Given the description of an element on the screen output the (x, y) to click on. 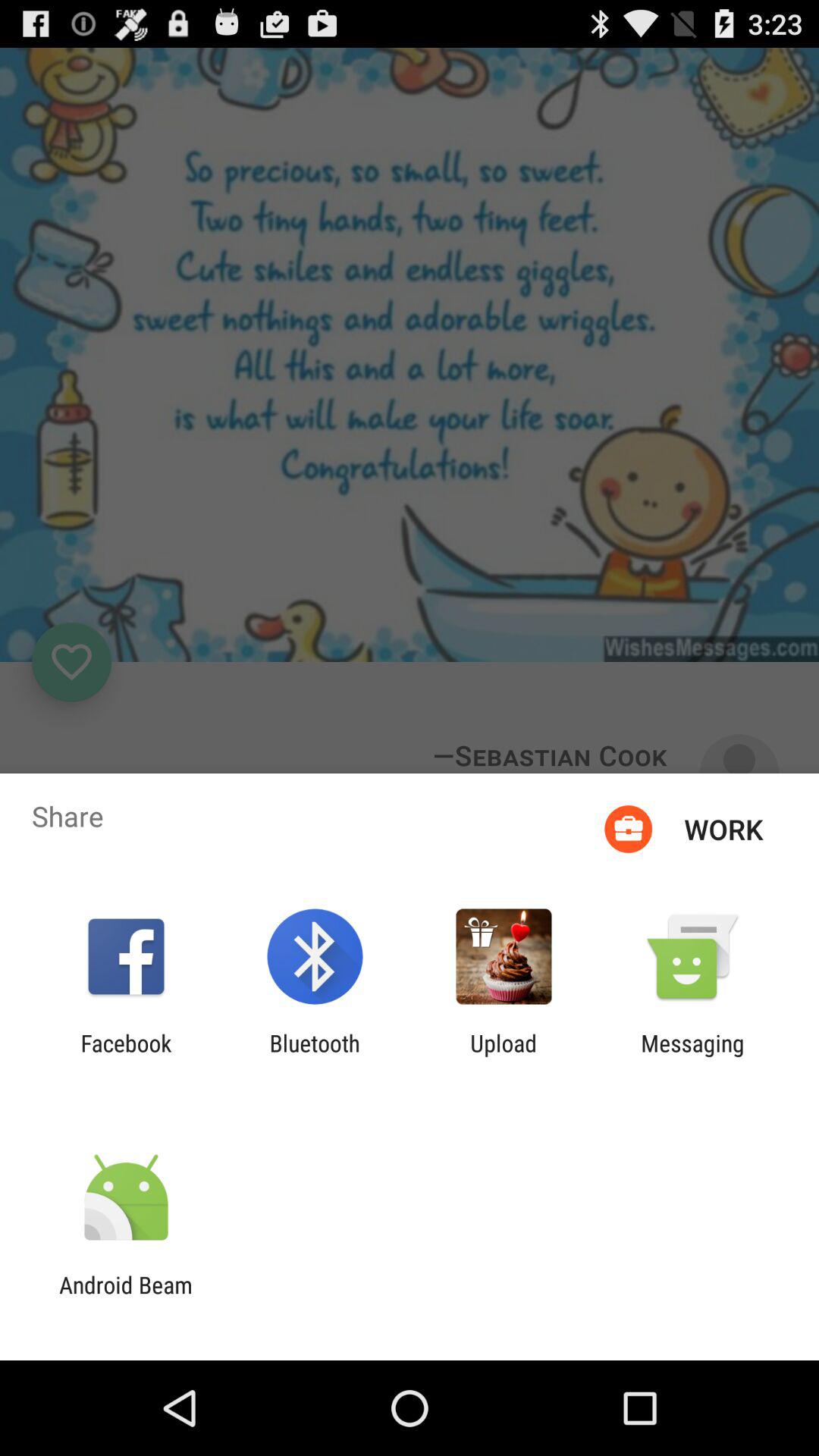
turn on icon next to bluetooth app (503, 1056)
